Given the description of an element on the screen output the (x, y) to click on. 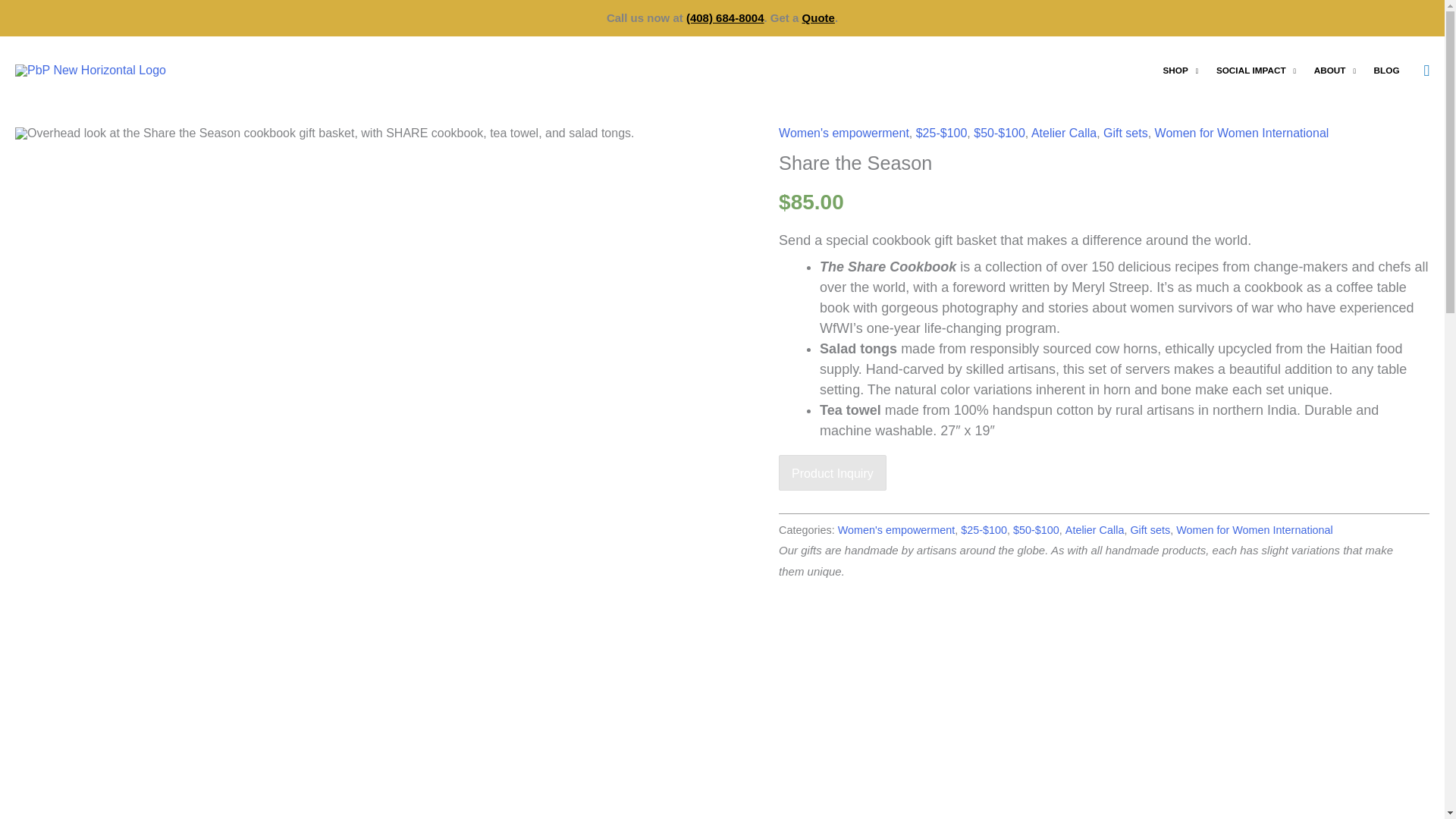
SOCIAL IMPACT (1255, 70)
Quote (818, 17)
Women's empowerment (843, 132)
ABOUT (1334, 70)
SHOP (1180, 70)
